Given the description of an element on the screen output the (x, y) to click on. 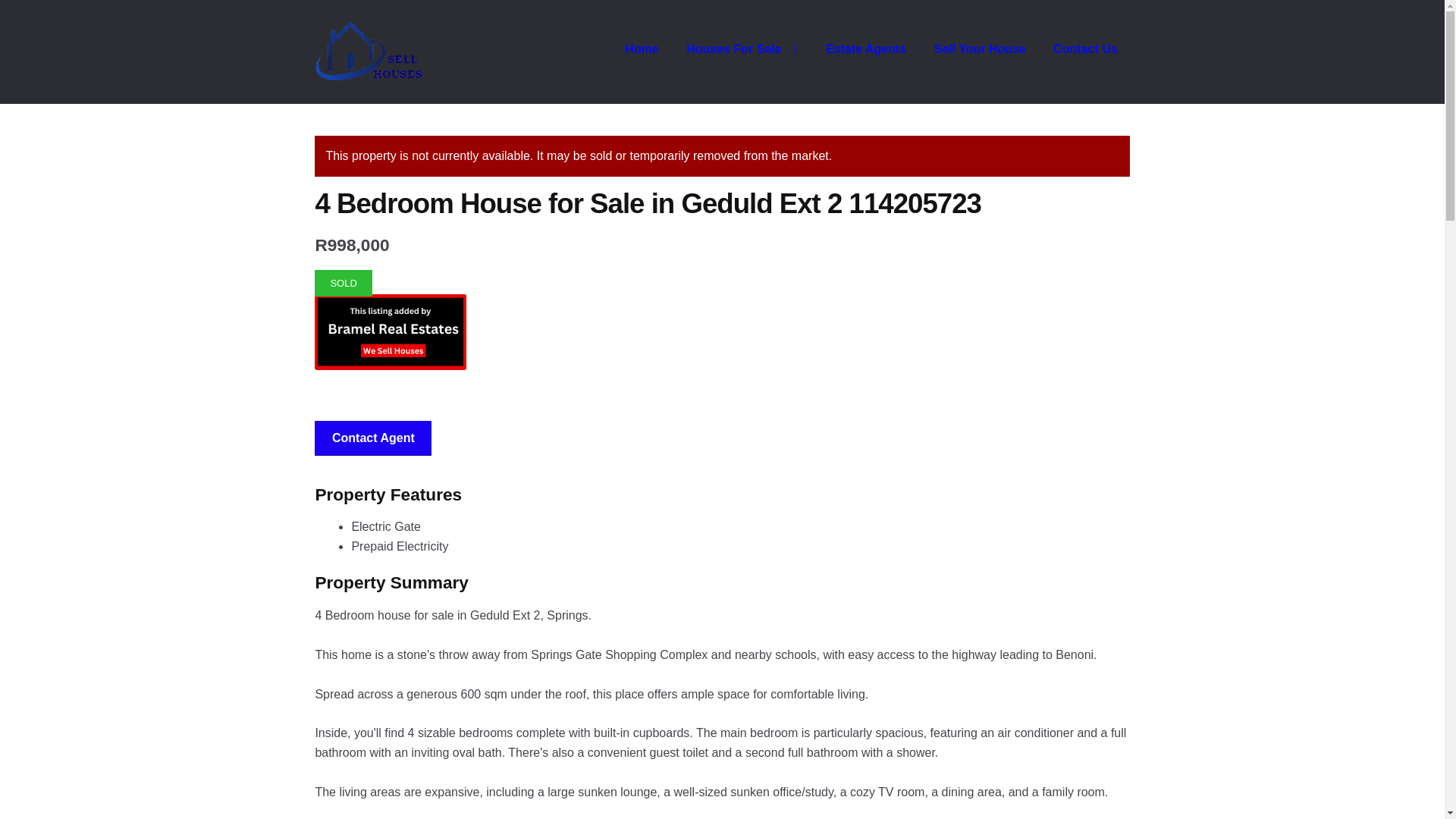
Houses For Sale (741, 48)
Home (640, 48)
Sell Your House (979, 48)
Contact Us (1085, 48)
Estate Agents (865, 48)
